Given the description of an element on the screen output the (x, y) to click on. 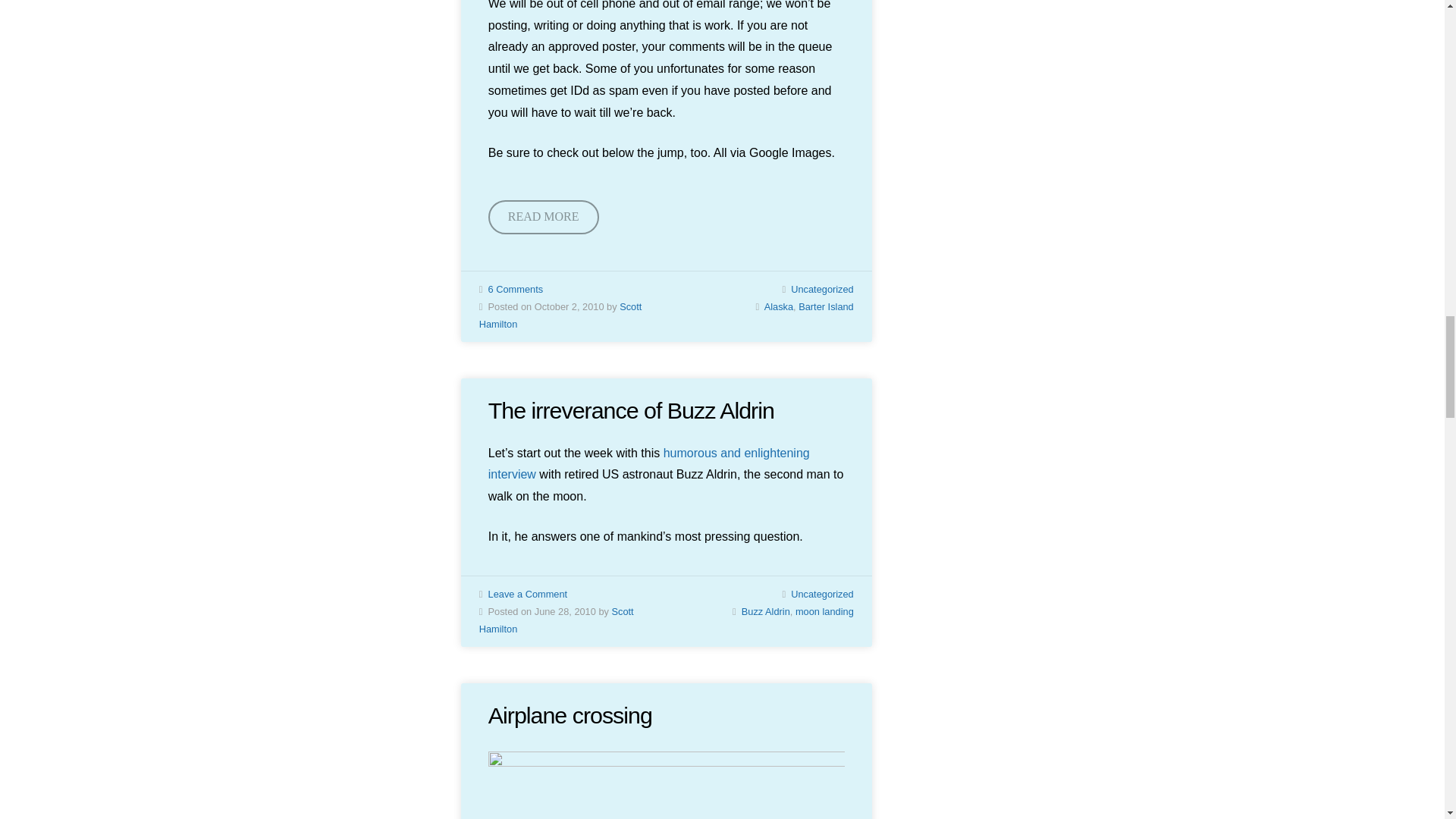
Airplane crossing (569, 714)
Posts by Scott Hamilton (560, 315)
The irreverance of Buzz Aldrin (630, 410)
AAMD80 (665, 785)
Posts by Scott Hamilton (556, 620)
